Given the description of an element on the screen output the (x, y) to click on. 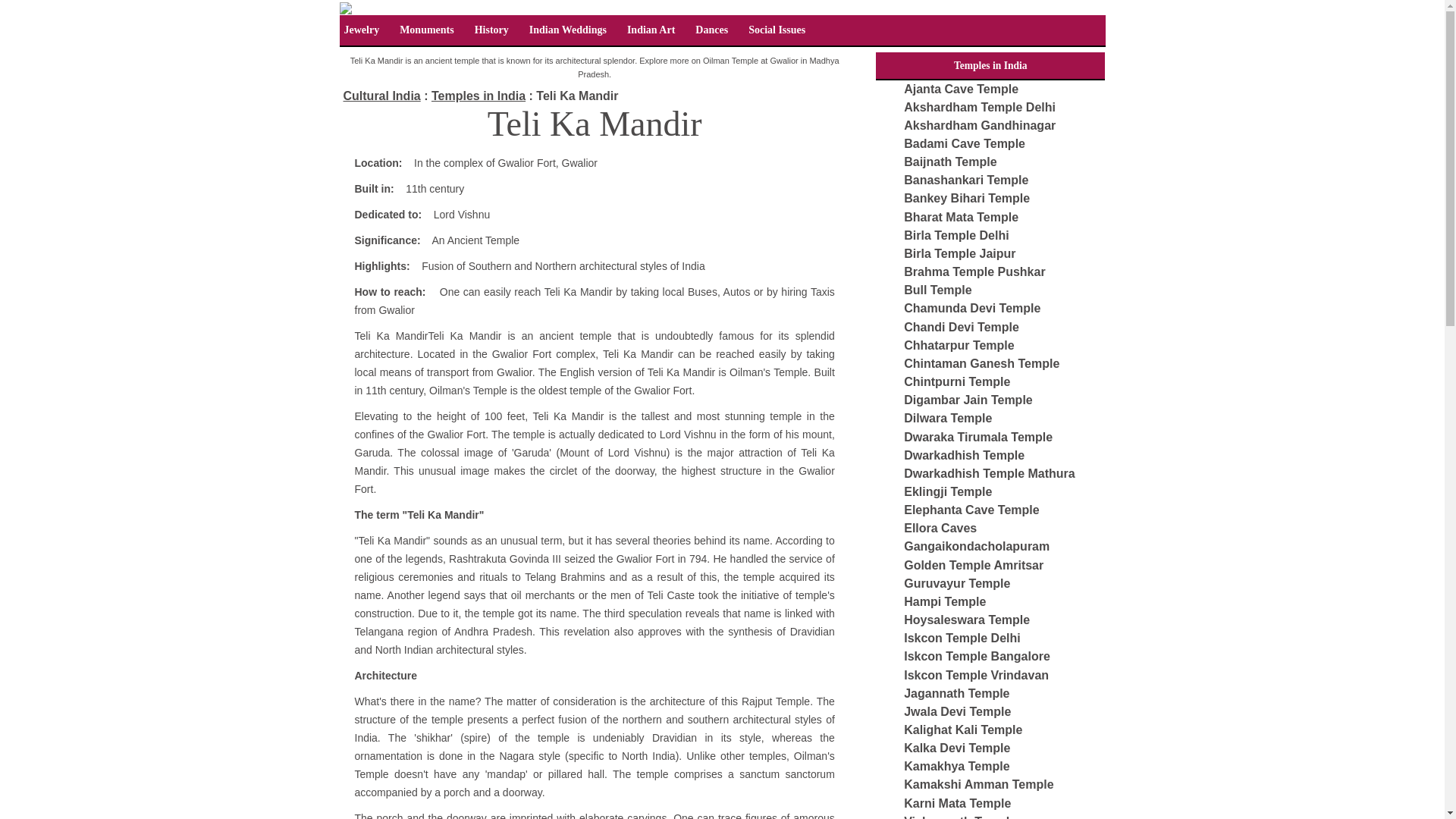
Temples in India (477, 95)
Indian Weddings (567, 30)
Dances (711, 30)
Monuments (426, 30)
Jewelry (361, 30)
History (491, 30)
Cultural India (381, 95)
Indian Art (651, 30)
